Given the description of an element on the screen output the (x, y) to click on. 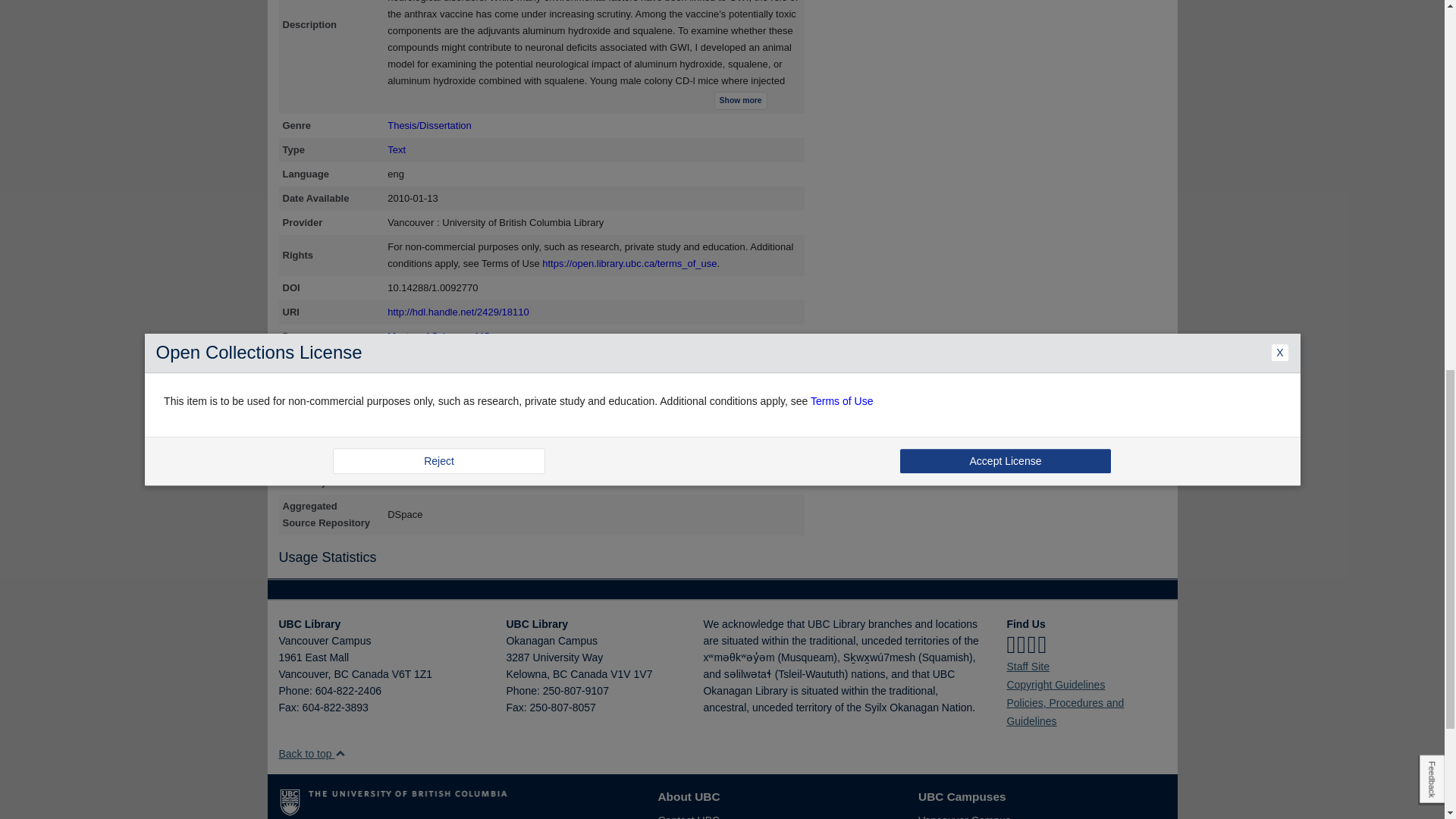
Facebook icon (1010, 644)
Youtube icon (1041, 644)
Twitter icon (1021, 644)
British Columbia (340, 674)
Instagram icon (1031, 644)
British Columbia (560, 674)
